Given the description of an element on the screen output the (x, y) to click on. 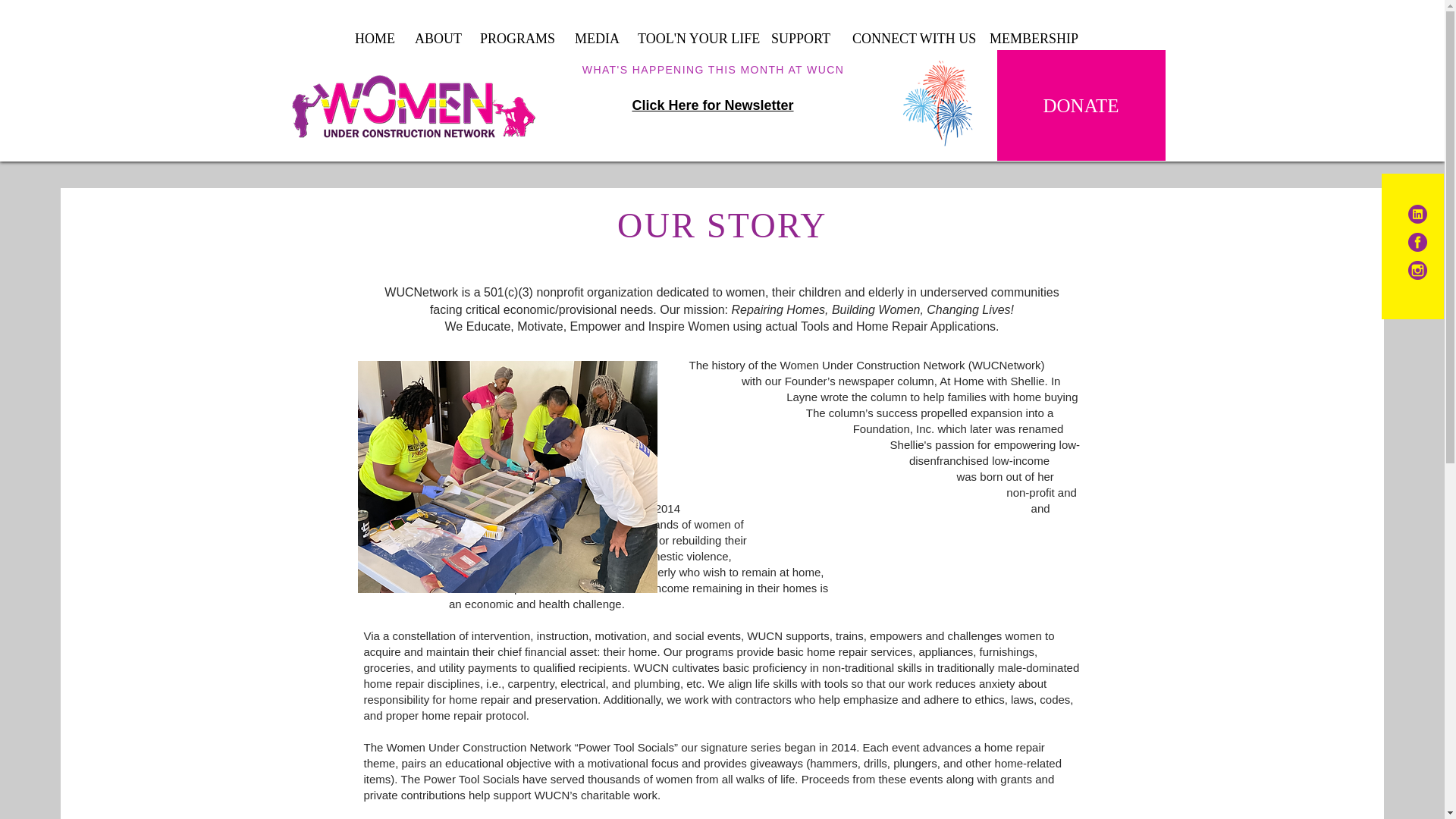
HOME (373, 38)
MEDIA (594, 38)
MEMBERSHIP (1032, 38)
Click Here for Newsletter (712, 105)
DONATE (1079, 104)
TOOL'N YOUR LIFE (693, 38)
